Given the description of an element on the screen output the (x, y) to click on. 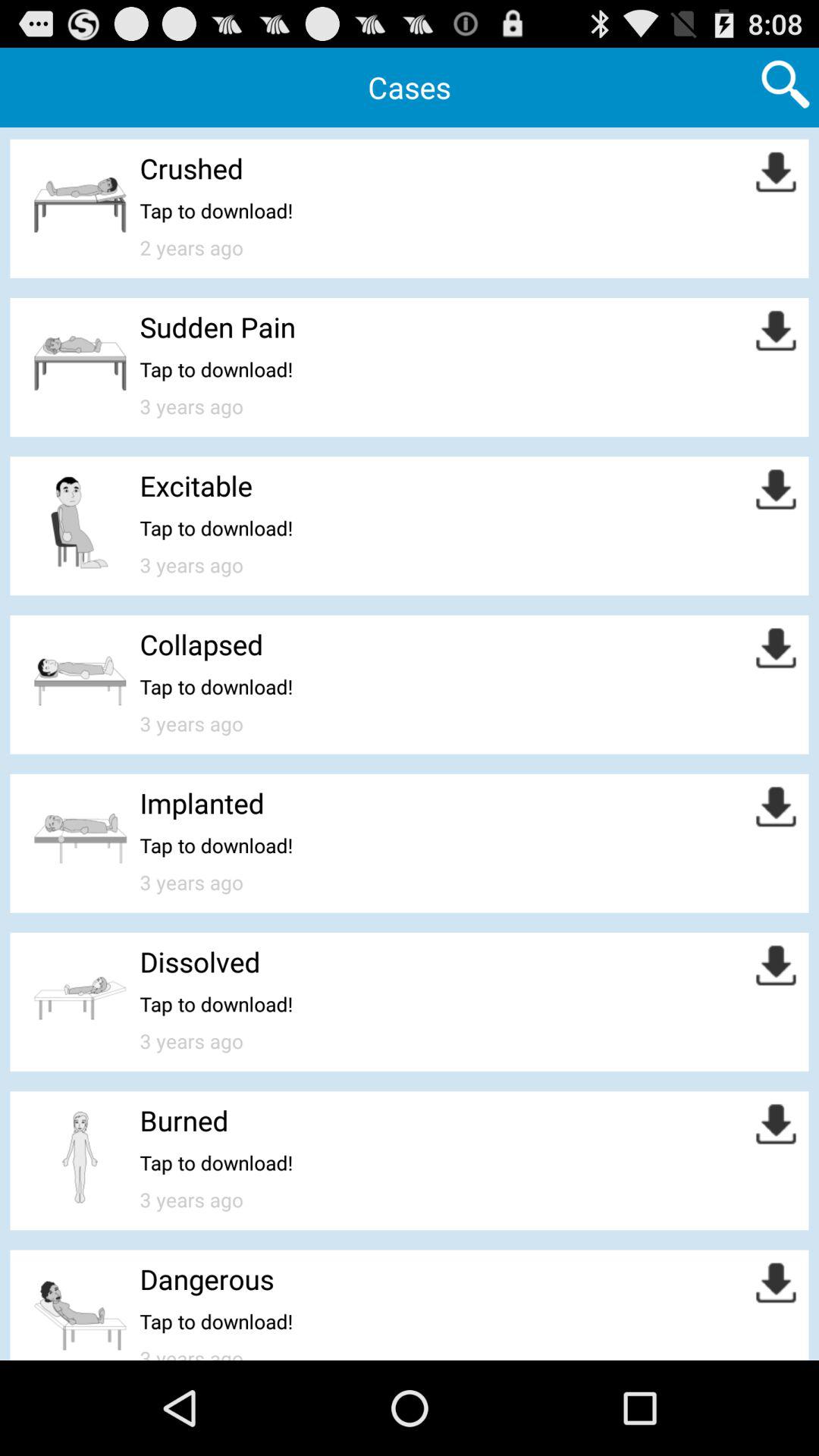
open the implanted item (201, 802)
